Given the description of an element on the screen output the (x, y) to click on. 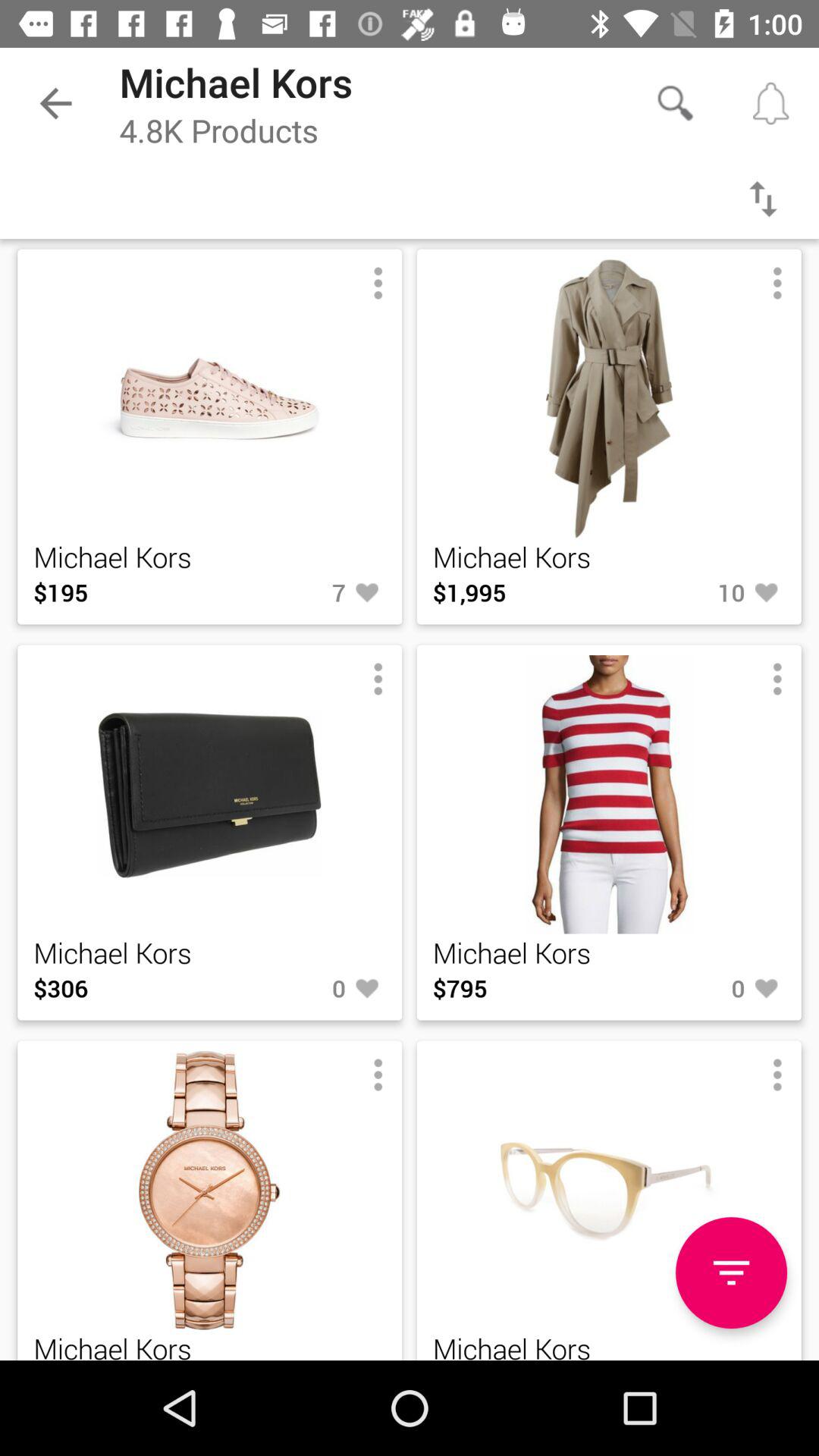
launch item to the right of the $195 (297, 592)
